Given the description of an element on the screen output the (x, y) to click on. 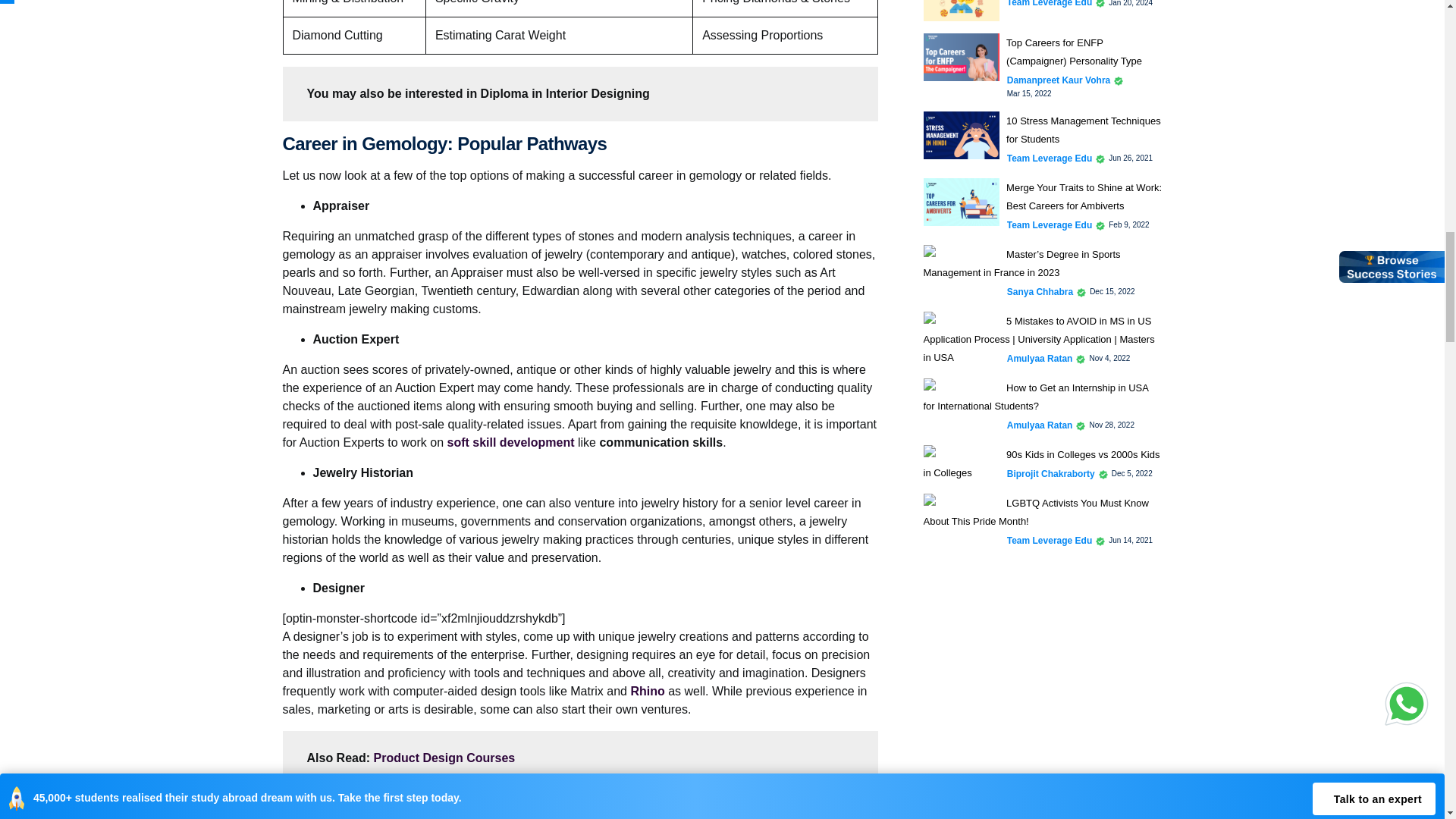
View all posts by Team Leverage Edu (1050, 158)
View all posts by Team Leverage Edu (1050, 224)
View all posts by Amulyaa Ratan (1040, 358)
View all posts by Team Leverage Edu (1050, 4)
View all posts by Damanpreet Kaur Vohra (1058, 79)
View all posts by Amulyaa Ratan (1040, 425)
View all posts by Sanya Chhabra (1040, 291)
